Given the description of an element on the screen output the (x, y) to click on. 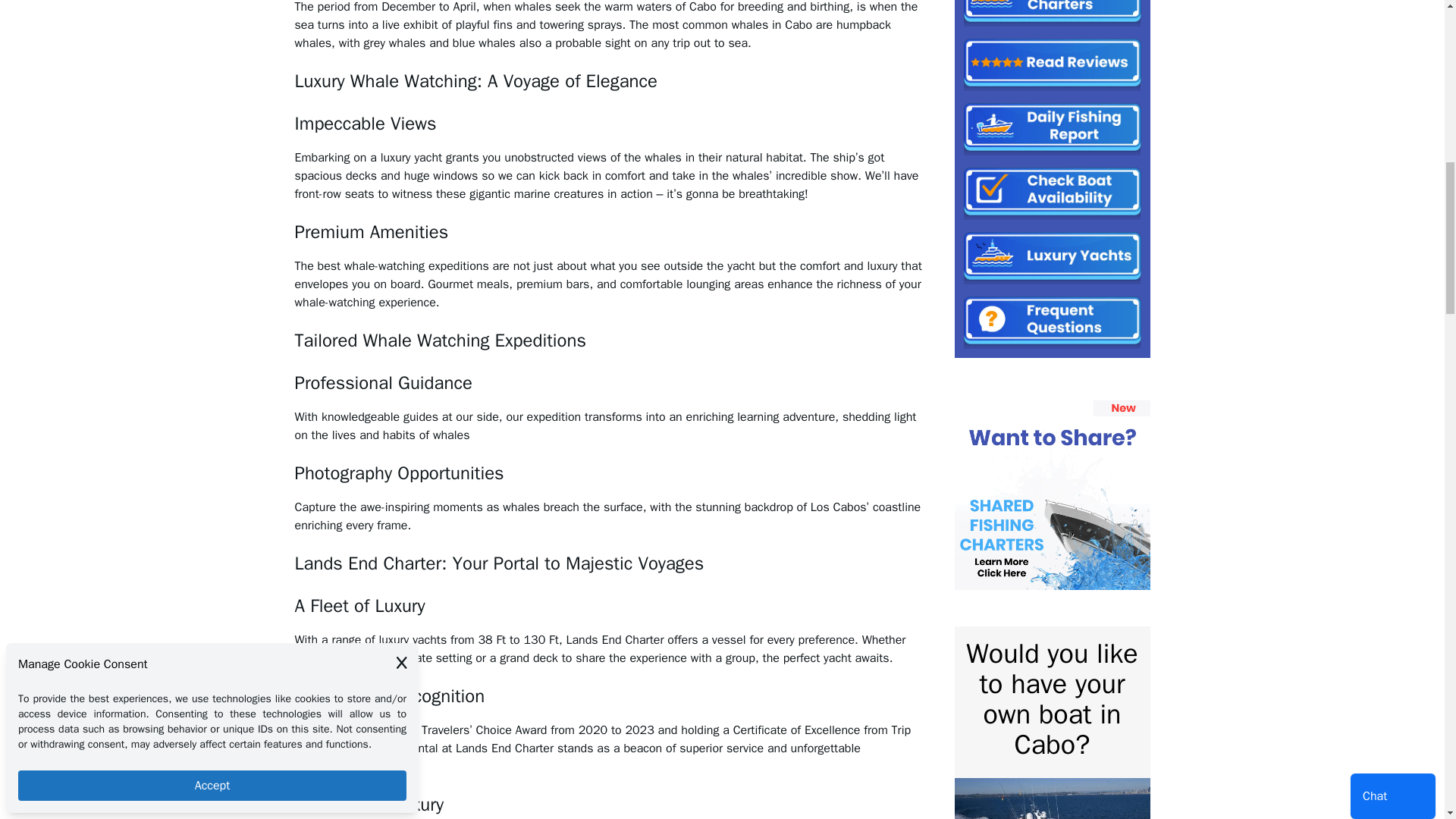
Would you like to have your own boat in Cabo? (1051, 699)
Cabo Yacht Rental (387, 748)
Lands End Charter (502, 748)
